Given the description of an element on the screen output the (x, y) to click on. 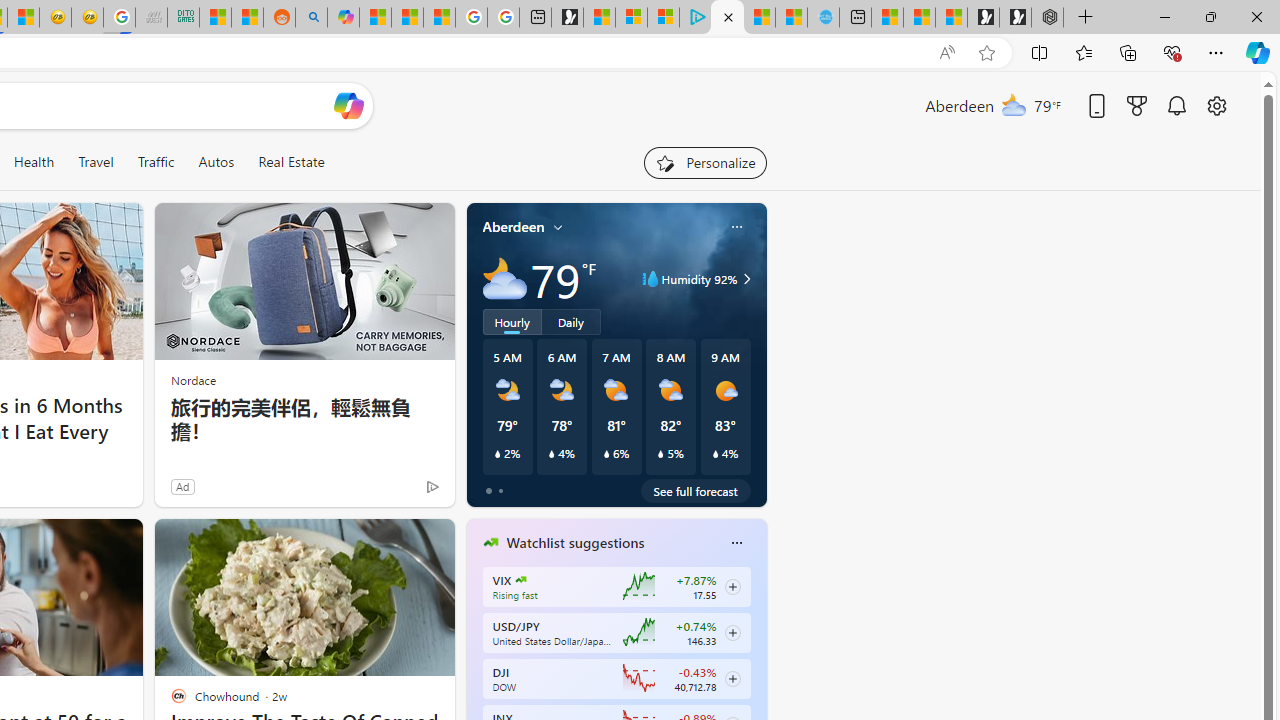
Autos (215, 161)
